Given the description of an element on the screen output the (x, y) to click on. 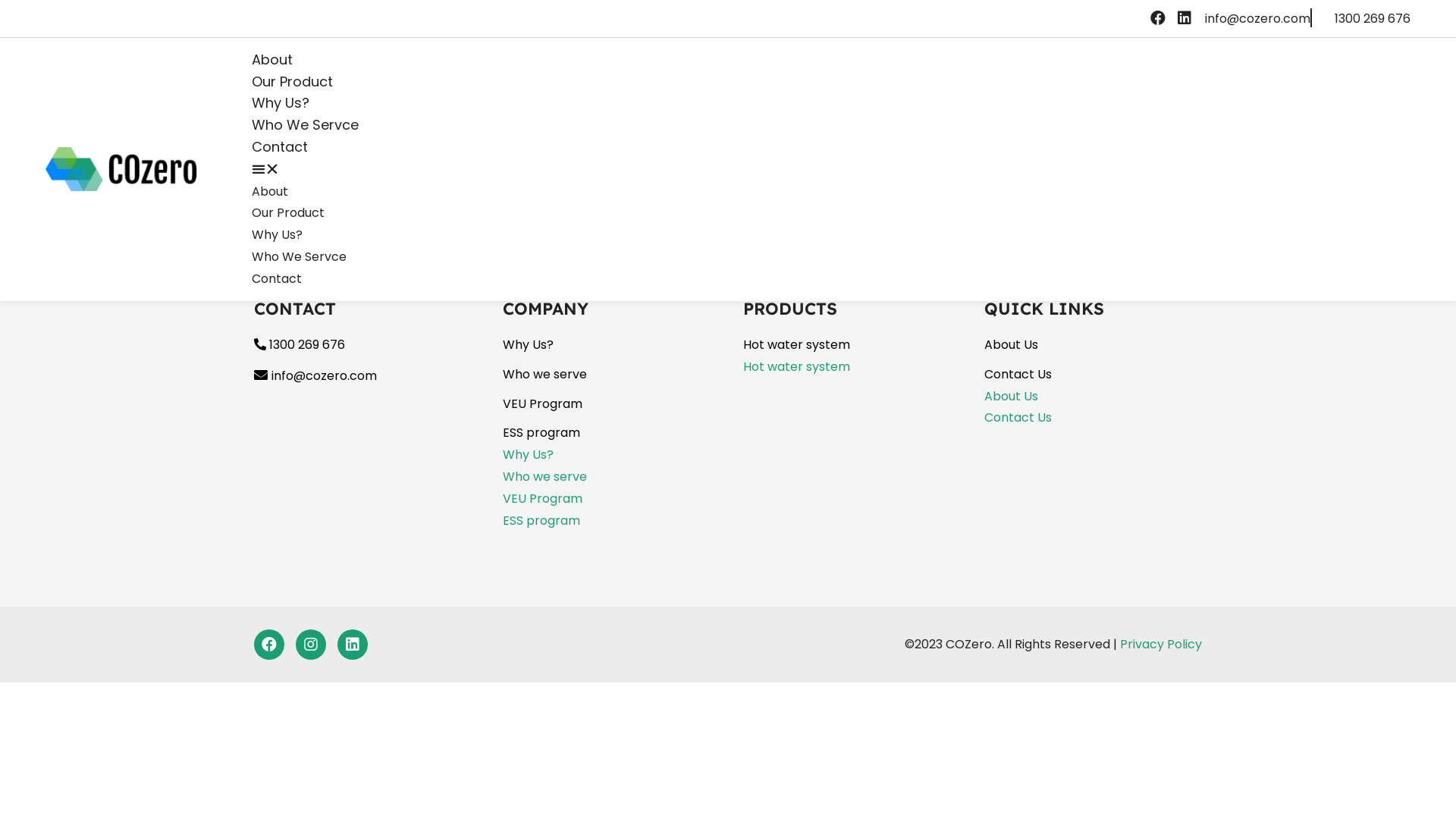
Our Product Element type: text (287, 212)
About Us Element type: text (1011, 344)
VEU Program Element type: text (541, 498)
Why Us? Element type: text (527, 454)
Why Us? Element type: text (276, 234)
1300 269 676 Element type: text (1372, 18)
About Us Element type: text (1011, 395)
Privacy Policy Element type: text (1160, 643)
Hot water system Element type: text (796, 344)
Contact Element type: text (276, 278)
Who We Servce Element type: text (298, 256)
Contact Element type: text (279, 146)
1300 269 676 Element type: text (299, 344)
Who we serve Element type: text (544, 373)
info@cozero.com Element type: text (1257, 18)
Who We Servce Element type: text (304, 124)
VEU Program Element type: text (541, 403)
Contact Us Element type: text (1017, 373)
Hot water system Element type: text (796, 366)
Why Us? Element type: text (527, 344)
About Element type: text (271, 59)
About Element type: text (269, 191)
Search Element type: text (183, 115)
Who we serve Element type: text (544, 476)
ESS program Element type: text (540, 520)
ESS program Element type: text (540, 432)
Contact Us Element type: text (1017, 417)
Our Product Element type: text (291, 81)
Why Us? Element type: text (280, 102)
